Given the description of an element on the screen output the (x, y) to click on. 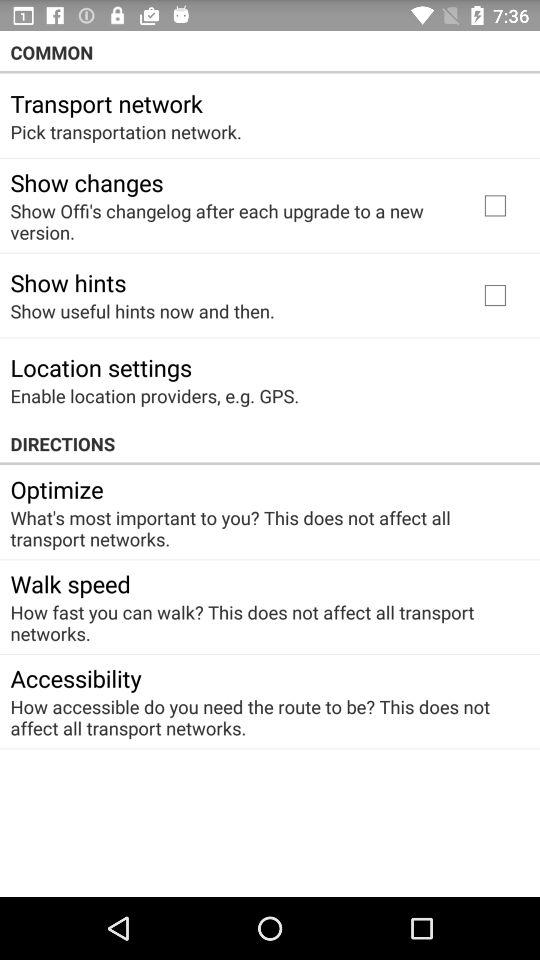
open item below the show changes icon (231, 221)
